Given the description of an element on the screen output the (x, y) to click on. 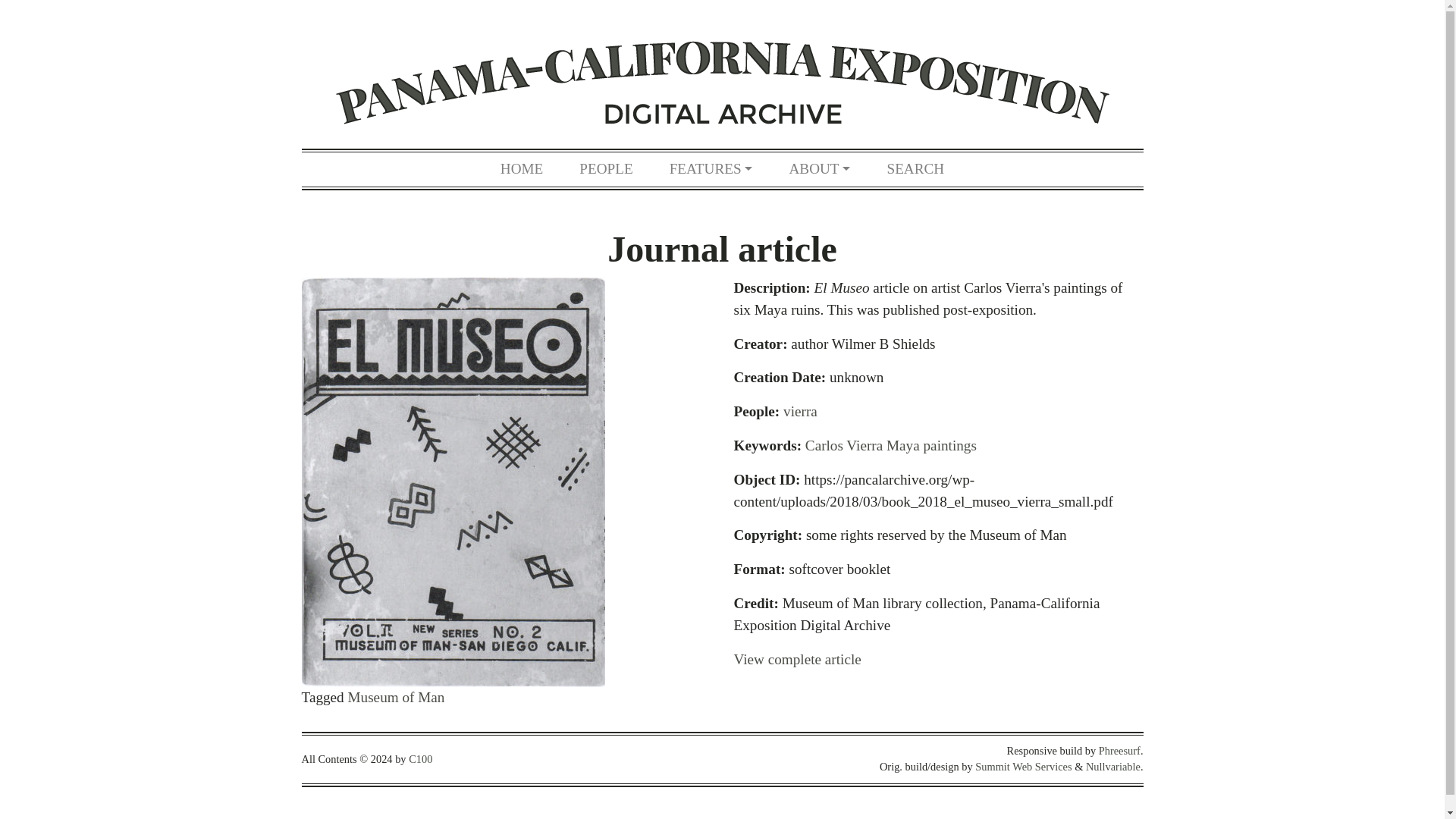
PEOPLE (605, 169)
SEARCH (914, 169)
Search (914, 169)
About (818, 169)
Nullvariable (1113, 766)
ABOUT (818, 169)
The Committee of One Hundred (420, 758)
C100 (420, 758)
paintings (949, 445)
Home (521, 169)
Summit Web Services (1023, 766)
View complete article (797, 659)
Maya (903, 445)
Web Design by Summit Web Services (1023, 766)
HOME (521, 169)
